Given the description of an element on the screen output the (x, y) to click on. 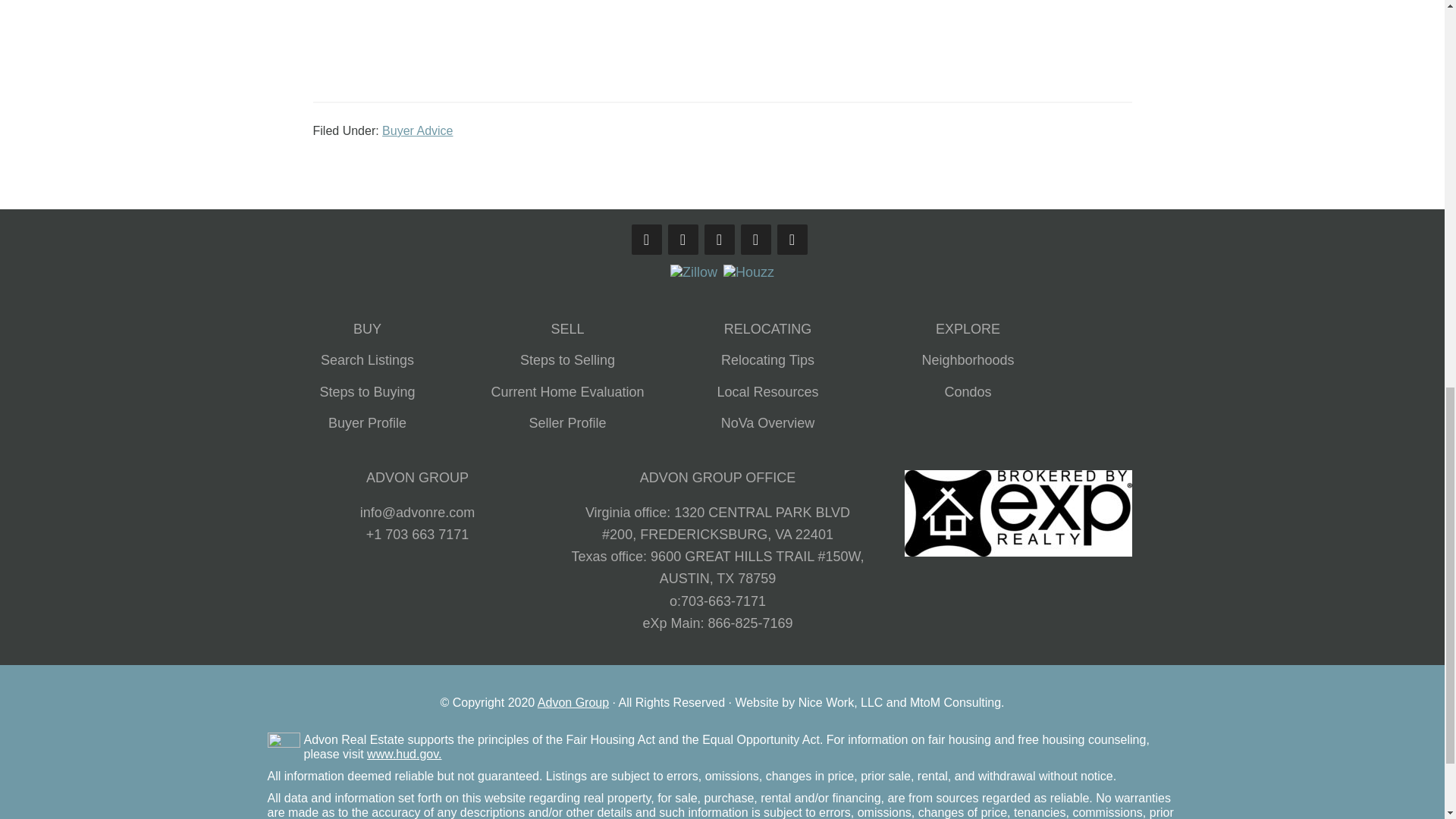
Houzz (748, 272)
YouTube (718, 239)
Zillow (693, 272)
Facebook (645, 239)
LinkedIn (791, 239)
Zillow (693, 272)
Instagram (681, 239)
Twitter (754, 239)
Buyer Advice (416, 130)
Houzz (748, 272)
